Given the description of an element on the screen output the (x, y) to click on. 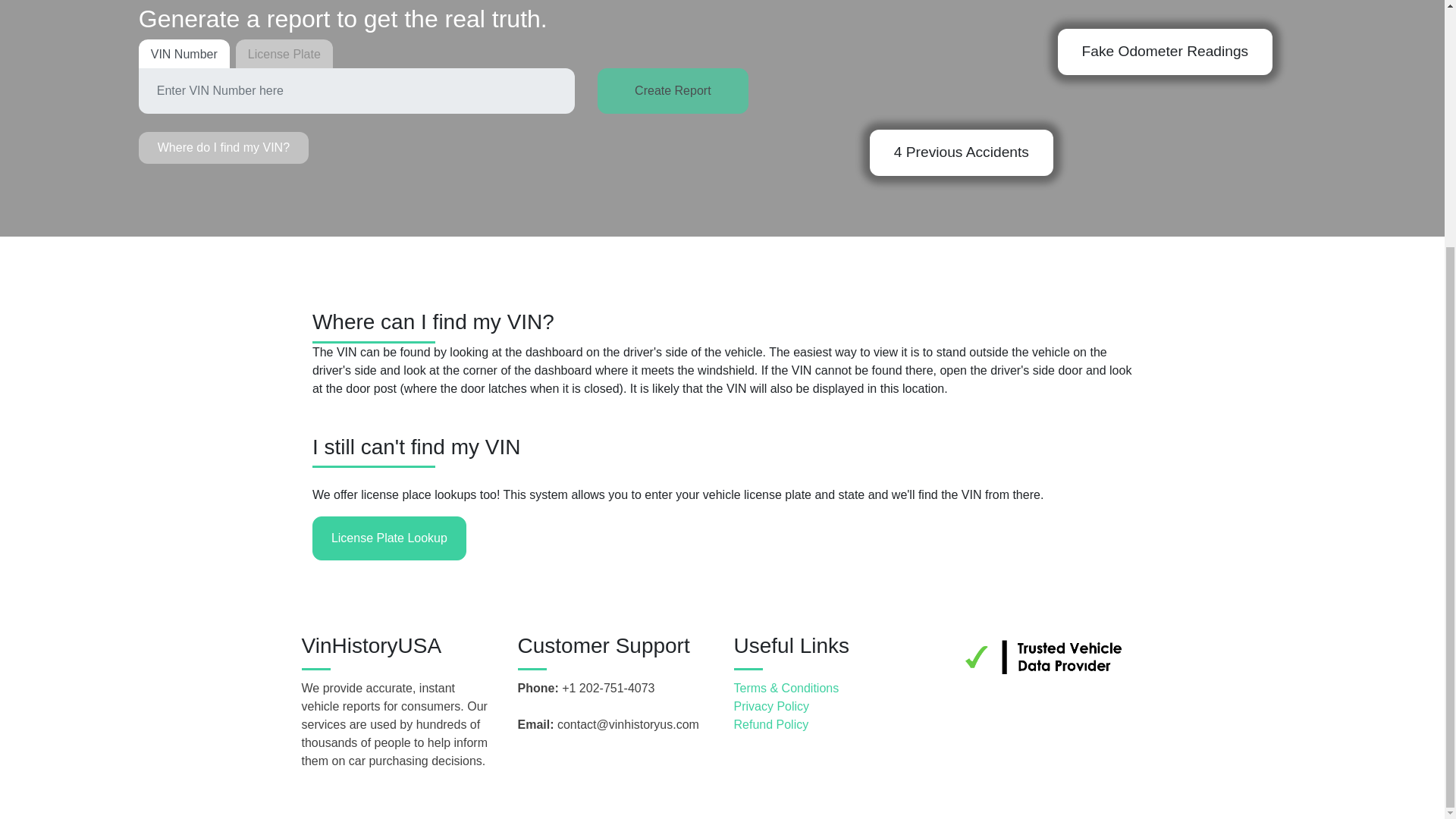
VIN Number (184, 54)
License Plate Lookup (389, 538)
Privacy Policy (830, 706)
Refund Policy (830, 724)
License Plate (284, 54)
Create Report (672, 90)
Where do I find my VIN? (223, 147)
